Given the description of an element on the screen output the (x, y) to click on. 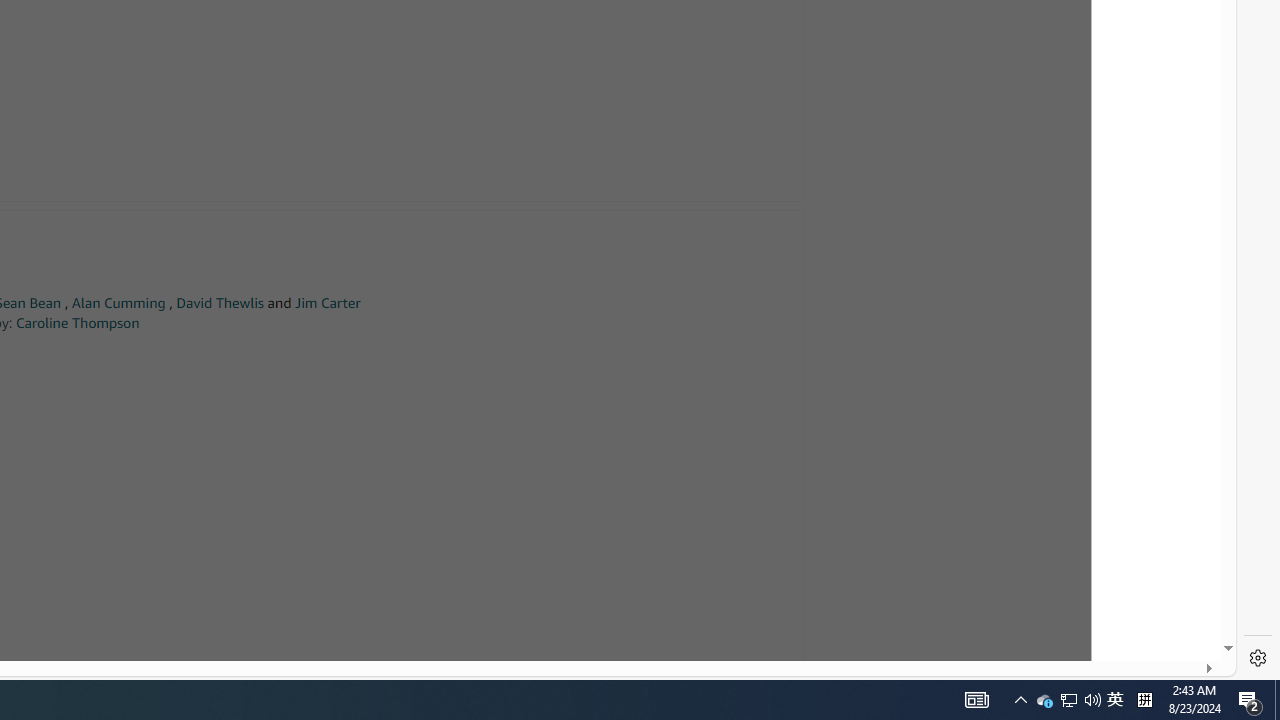
Caroline Thompson (77, 322)
Jim Carter (327, 303)
David Thewlis (219, 303)
Alan Cumming (118, 303)
